Given the description of an element on the screen output the (x, y) to click on. 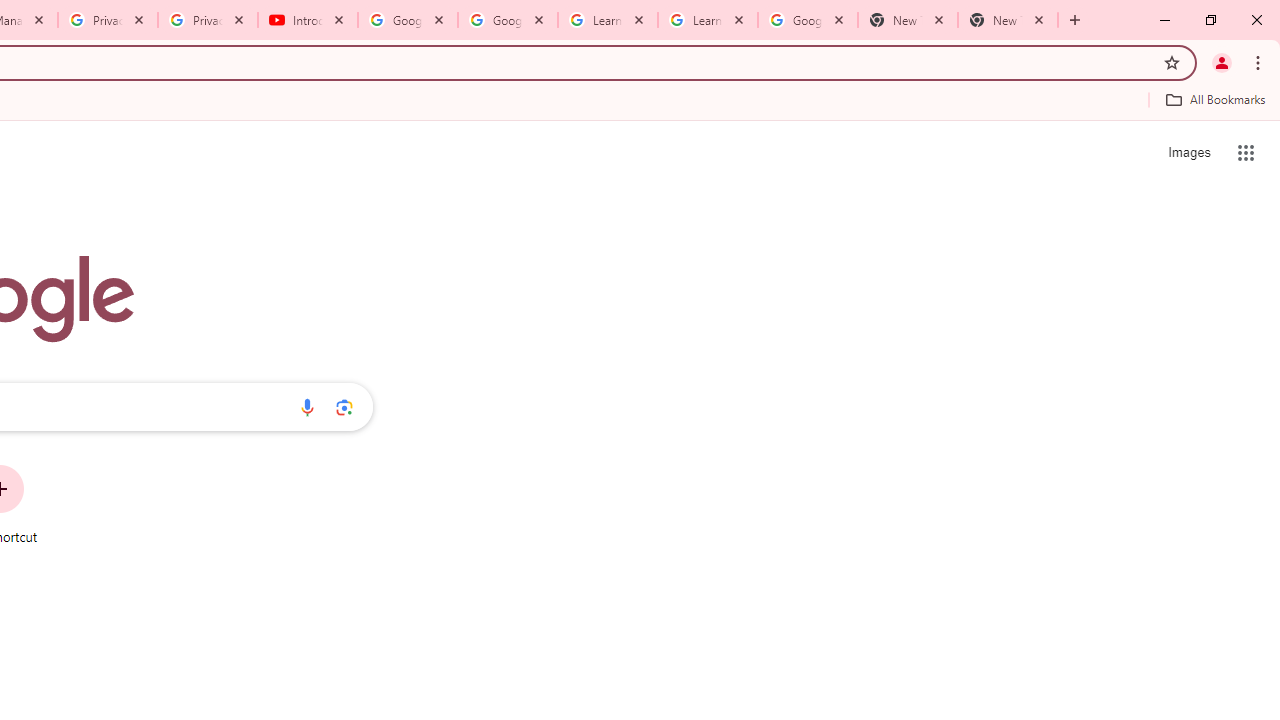
Search by voice (307, 407)
Google Account Help (508, 20)
